Given the description of an element on the screen output the (x, y) to click on. 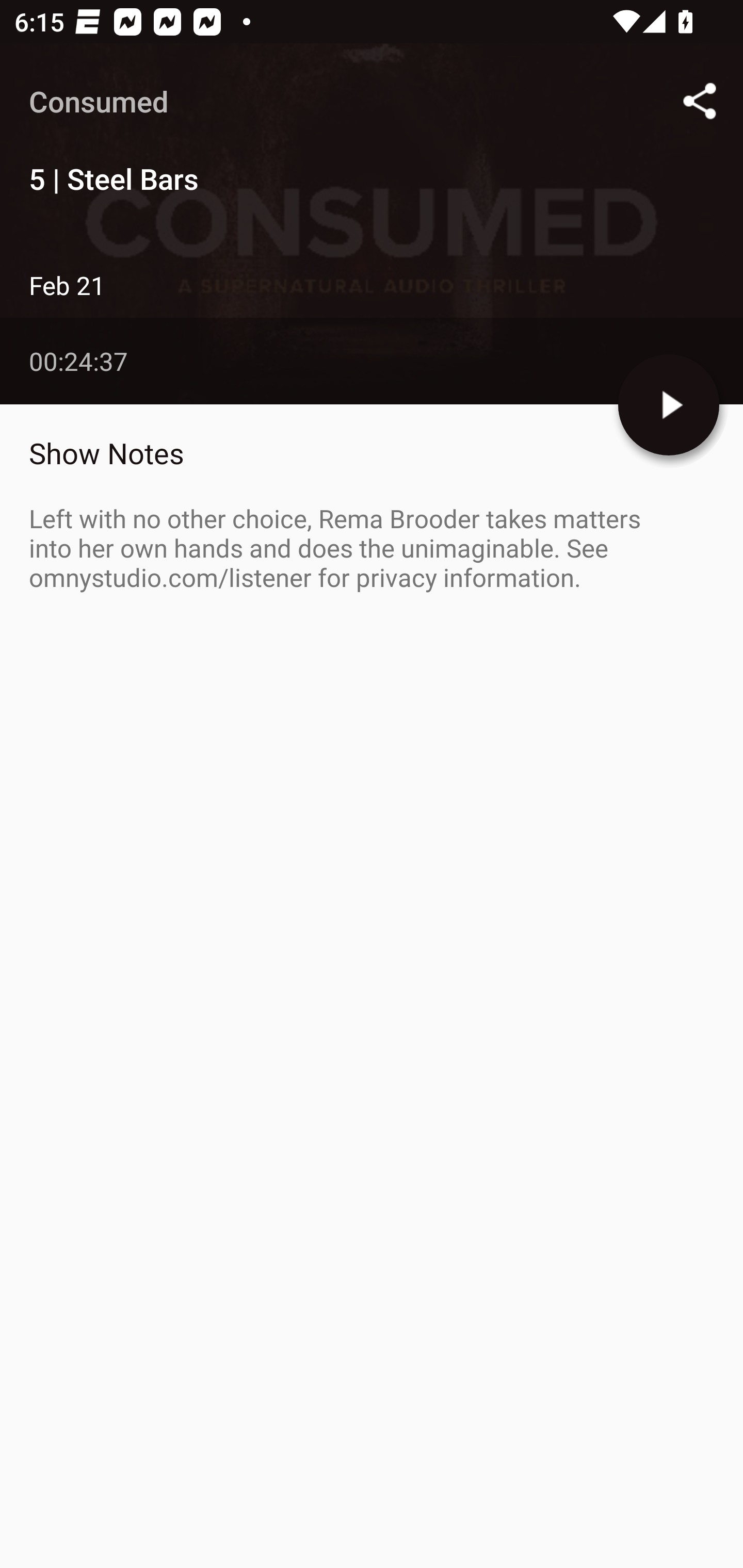
Consumed 5 | Steel Bars Feb 21 00:24:37 (371, 223)
